Given the description of an element on the screen output the (x, y) to click on. 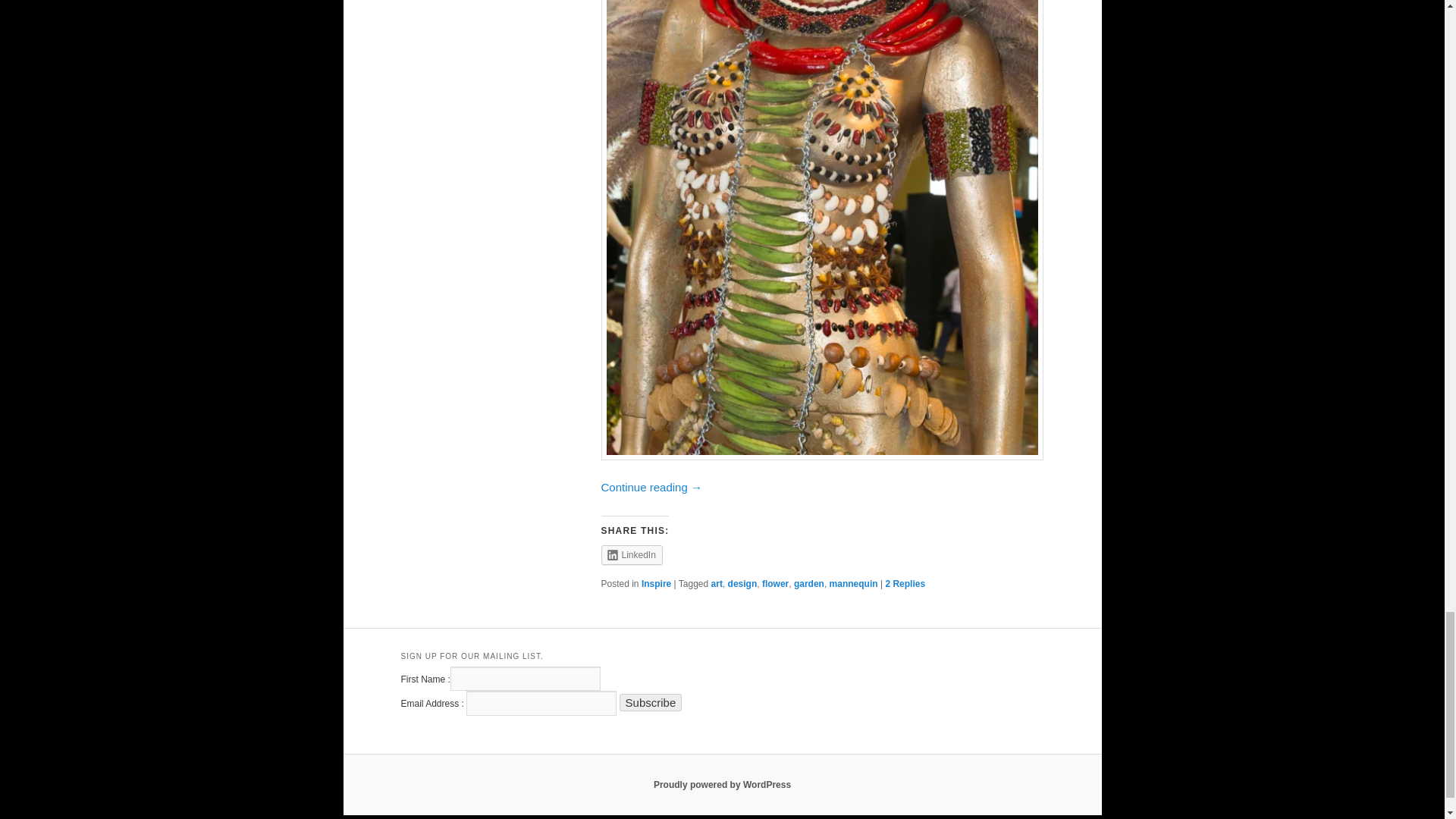
Click to share on LinkedIn (630, 555)
Subscribe (651, 702)
Semantic Personal Publishing Platform (721, 784)
